Given the description of an element on the screen output the (x, y) to click on. 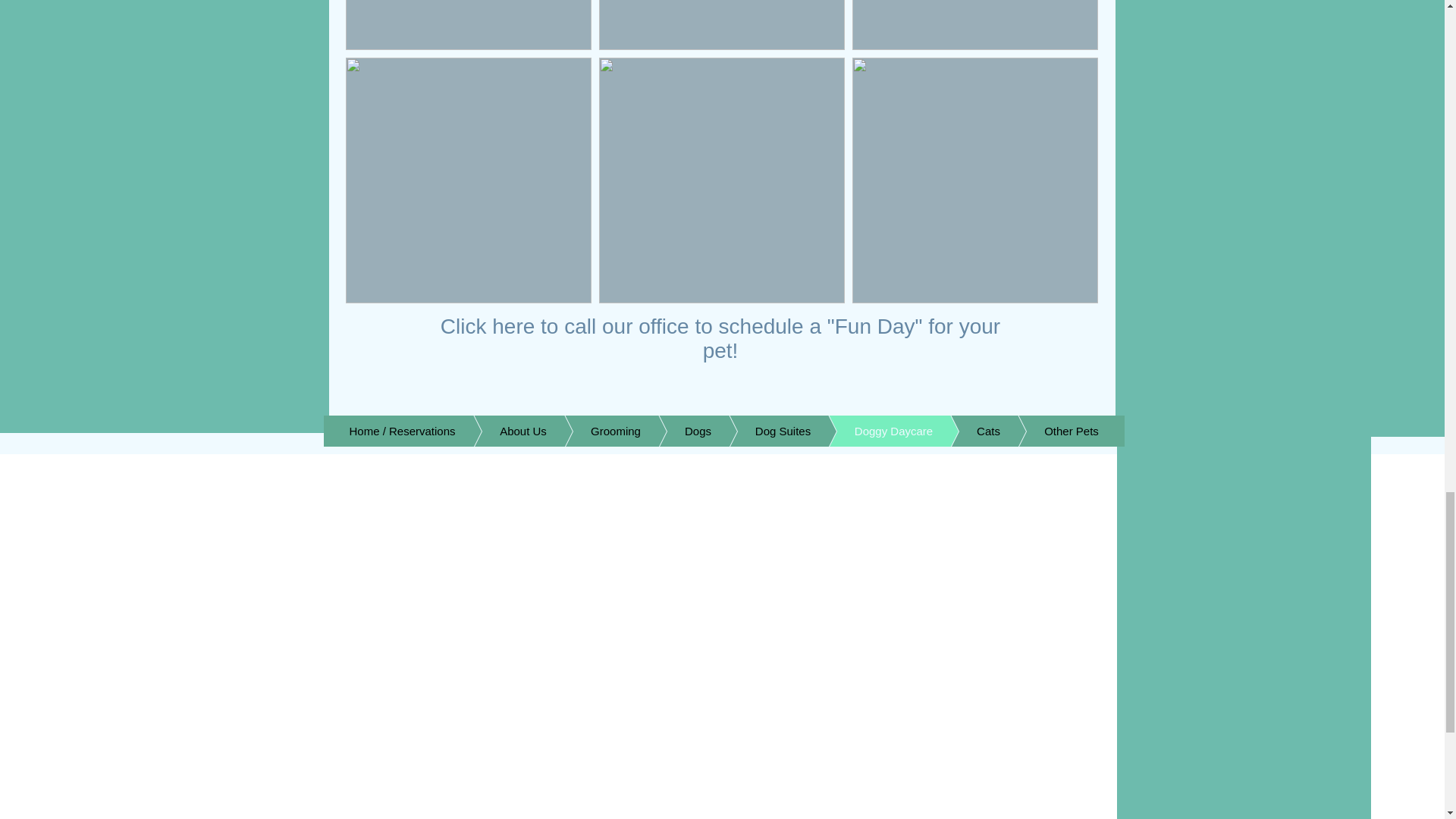
Other Pets (1049, 430)
About Us (500, 430)
Doggy Daycare (871, 430)
Grooming (592, 430)
Dog Suites (759, 430)
Cats (965, 430)
Dogs (675, 430)
